Given the description of an element on the screen output the (x, y) to click on. 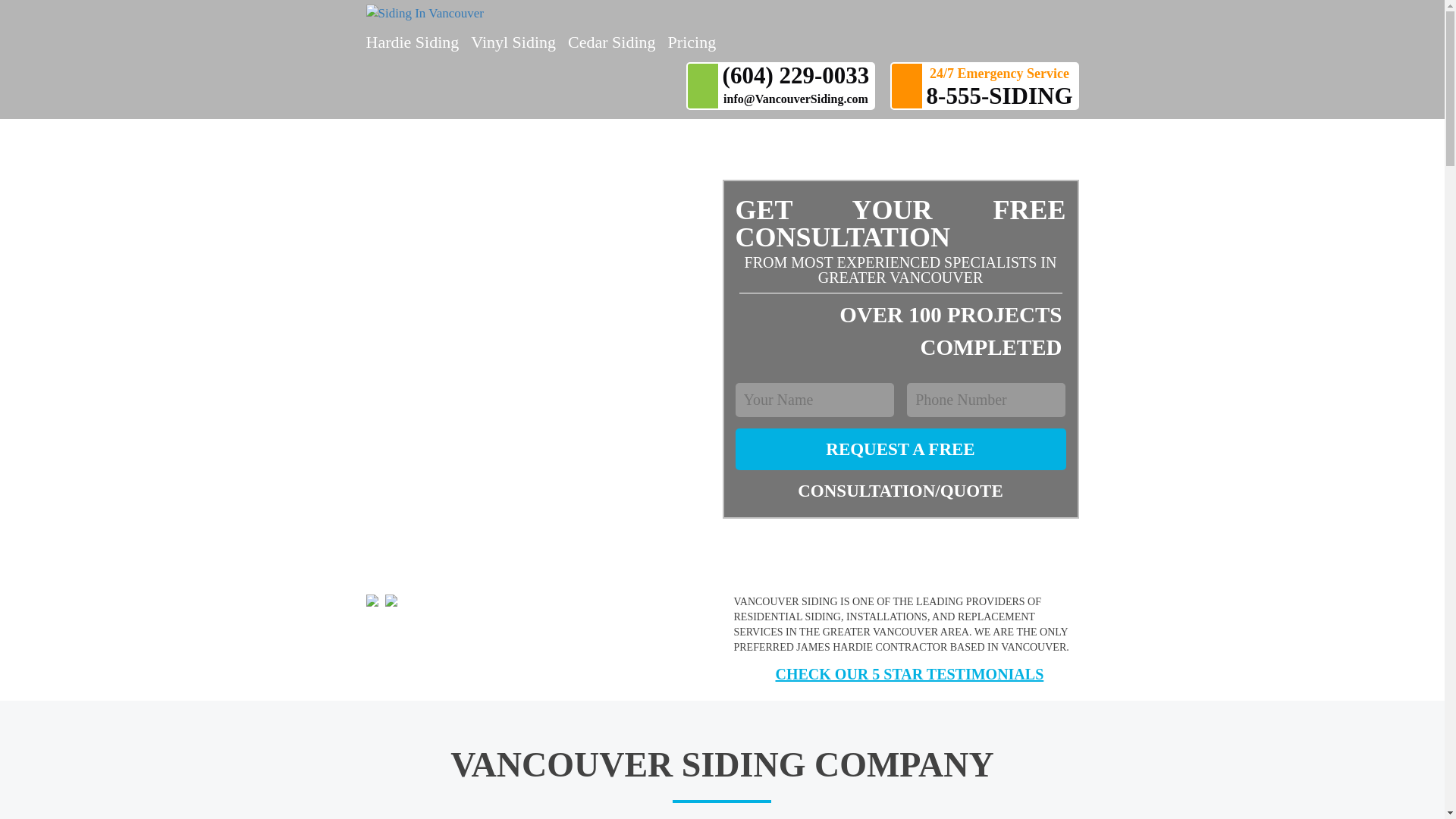
Cedar Siding (611, 41)
CHECK OUR 5 STAR TESTIMONIALS (888, 673)
Vinyl Siding (513, 41)
8-555-SIDING (999, 95)
Pricing (692, 41)
Siding In Vancouver (542, 13)
Hardie Siding (411, 41)
